Given the description of an element on the screen output the (x, y) to click on. 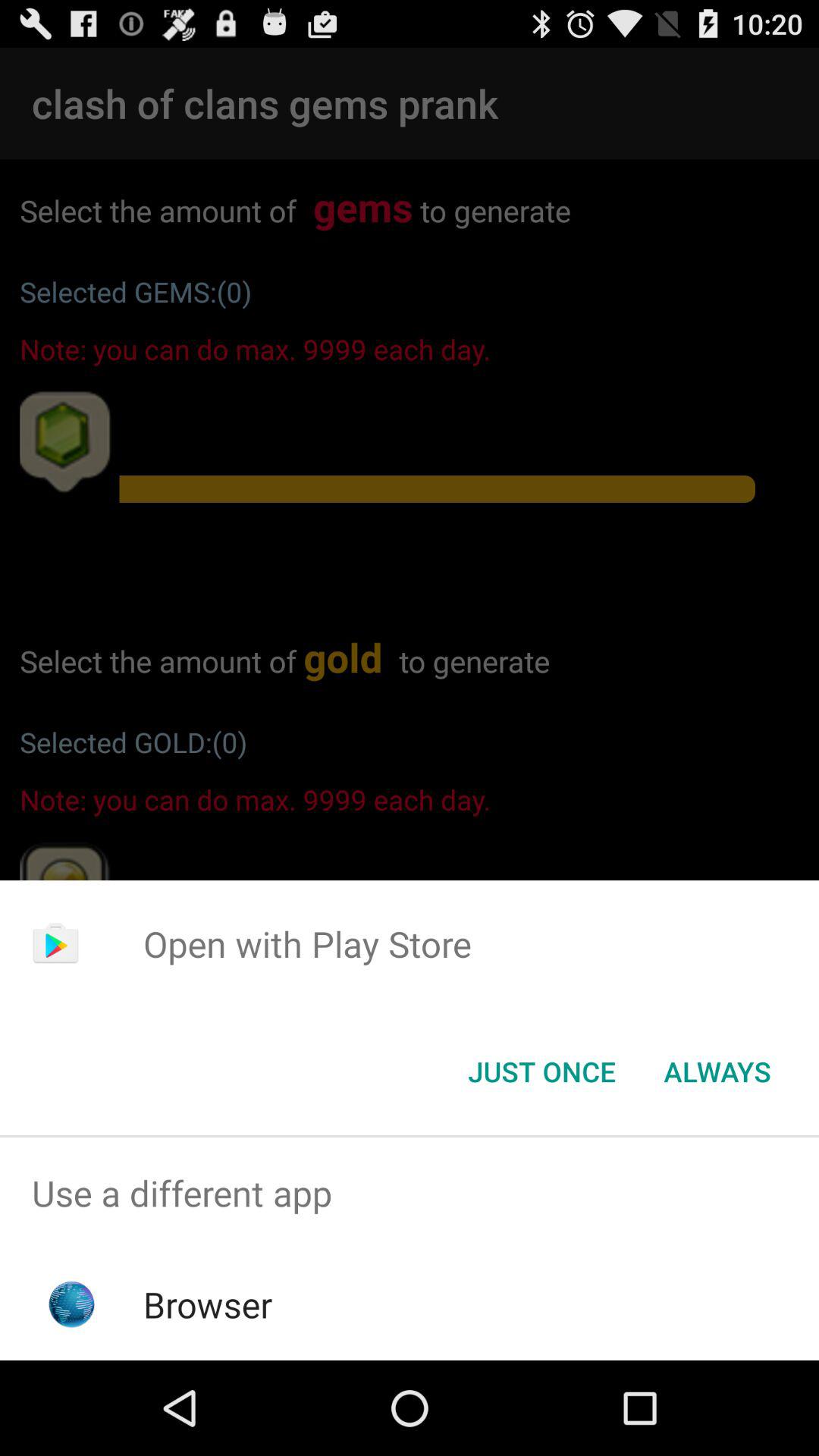
launch the just once button (541, 1071)
